Given the description of an element on the screen output the (x, y) to click on. 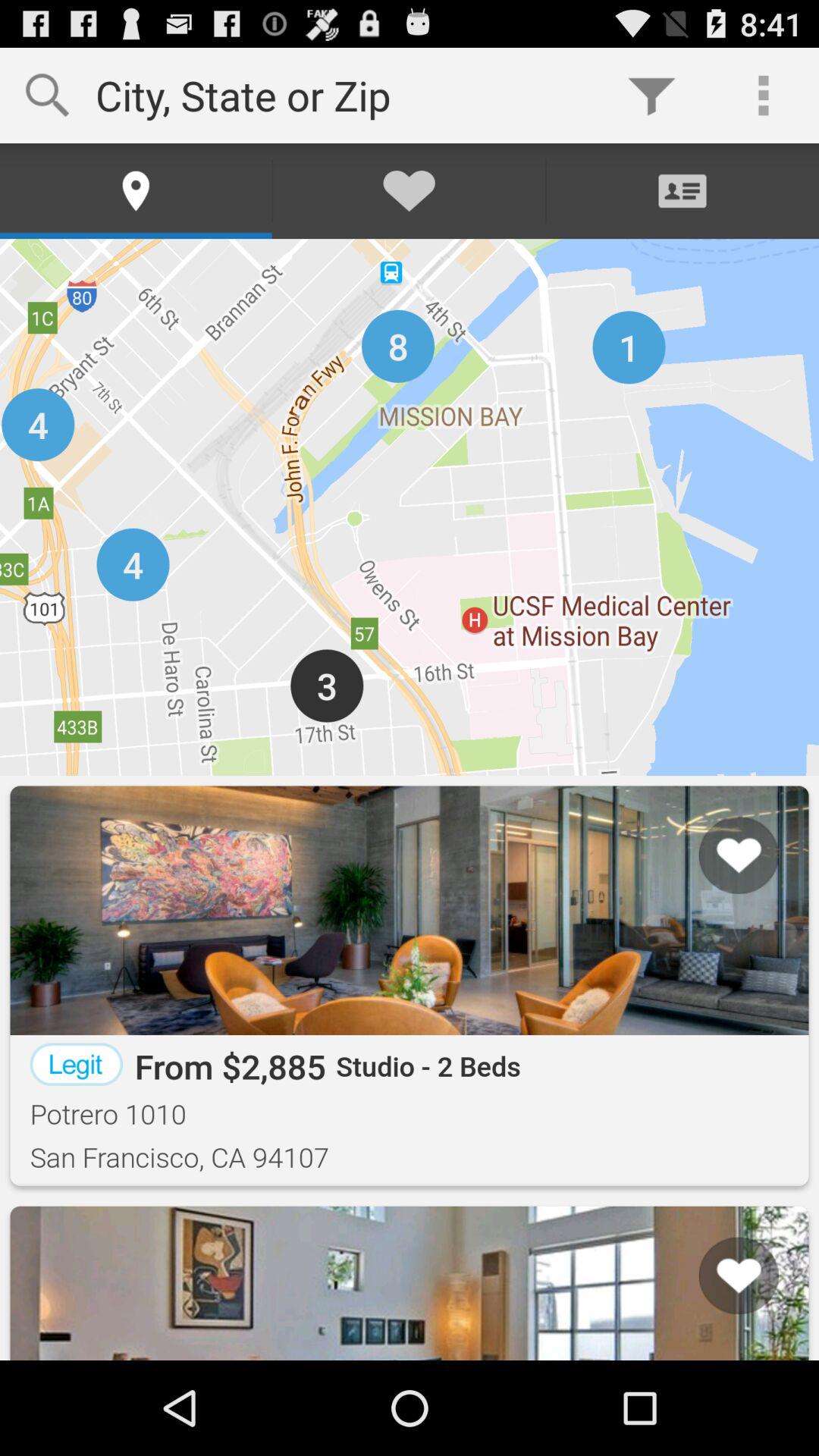
choose the button next to list icon (57, 1302)
